Given the description of an element on the screen output the (x, y) to click on. 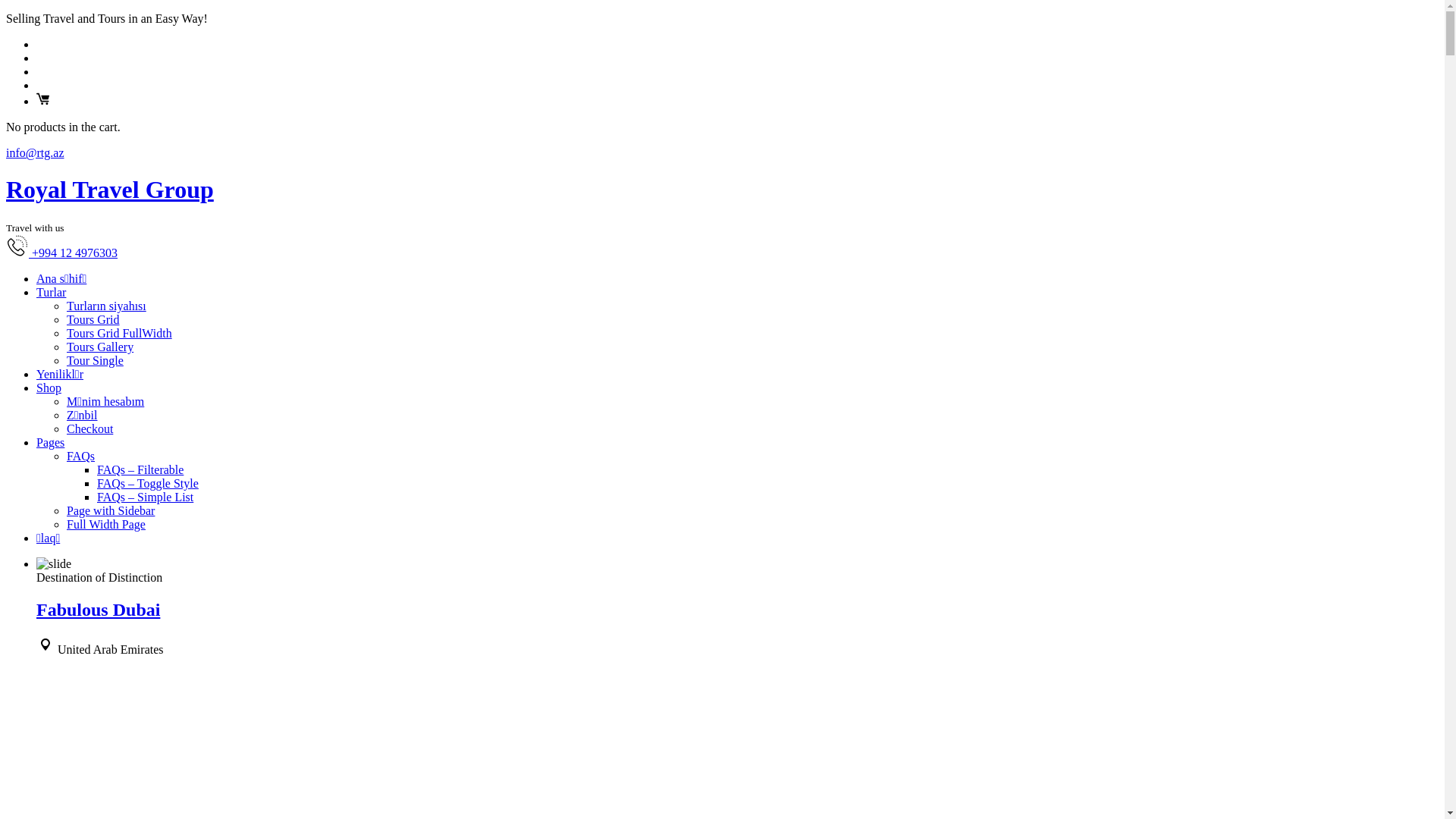
Shop Element type: text (48, 387)
Pages Element type: text (50, 442)
Tours Grid Element type: text (92, 319)
Checkout Element type: text (89, 428)
Tours Grid FullWidth Element type: text (119, 332)
Tours Gallery Element type: text (99, 346)
Tour Single Element type: text (94, 360)
Fabulous Dubai Element type: text (98, 609)
Turlar Element type: text (50, 291)
Full Width Page Element type: text (105, 523)
Royal Travel Group Element type: text (109, 189)
Page with Sidebar Element type: text (110, 510)
FAQs Element type: text (80, 455)
+994 12 4976303 Element type: text (61, 252)
info@rtg.az Element type: text (34, 152)
